Given the description of an element on the screen output the (x, y) to click on. 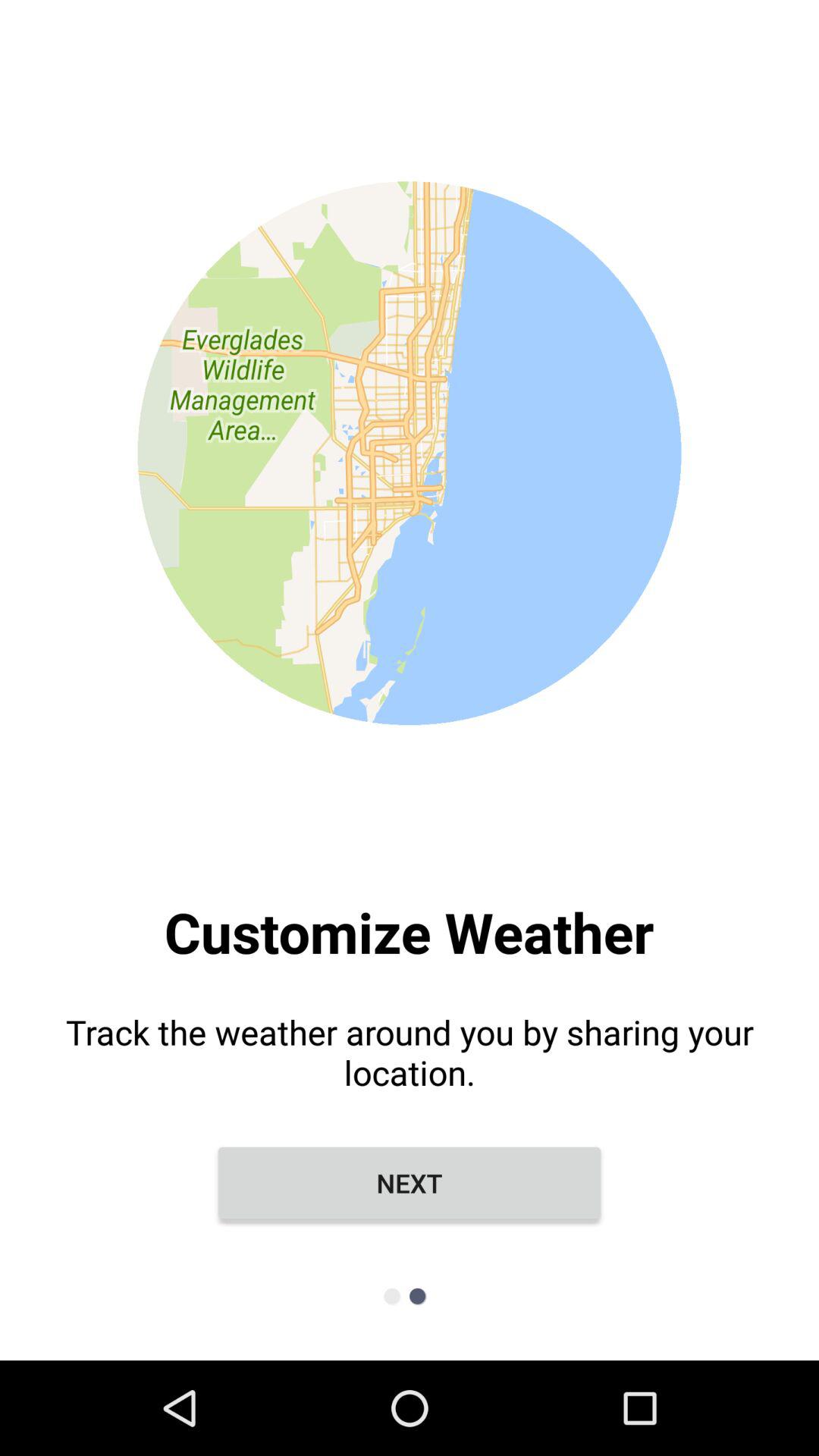
choose the item above the track the weather (409, 501)
